Given the description of an element on the screen output the (x, y) to click on. 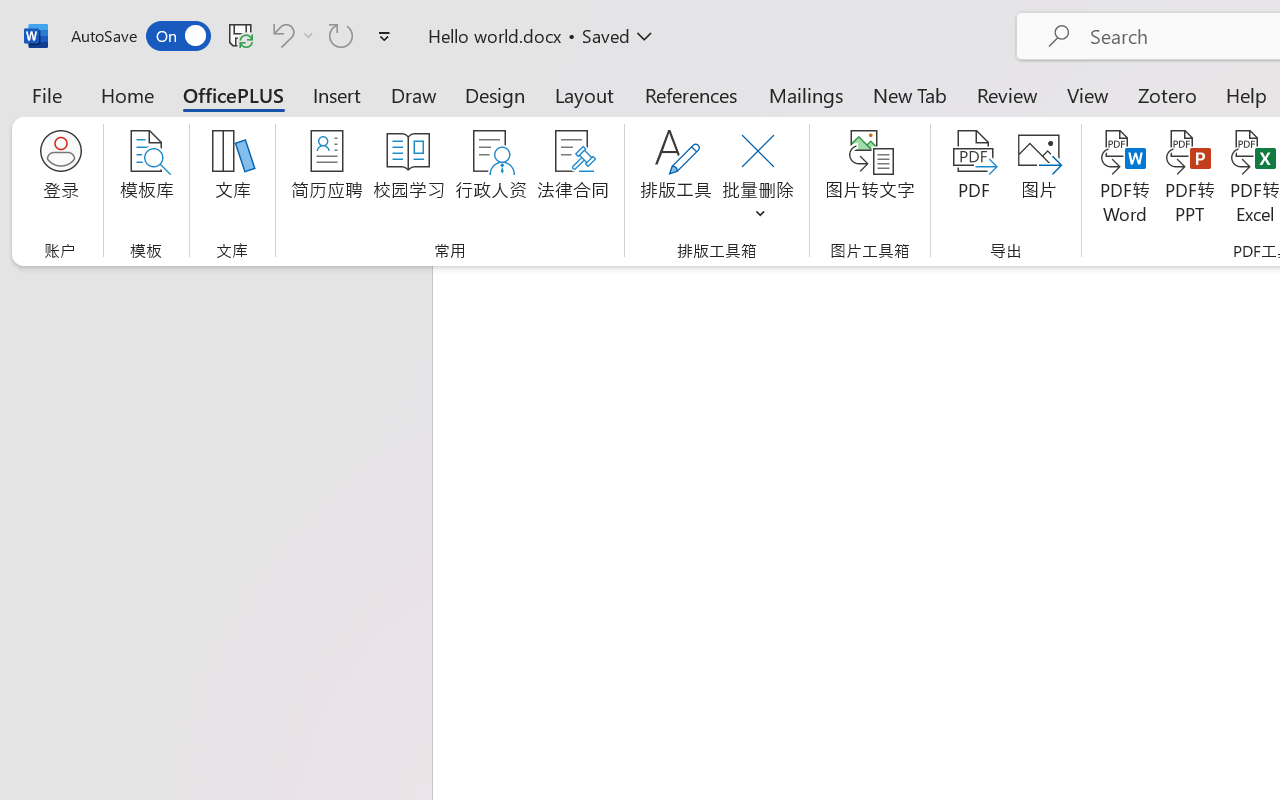
More Options (308, 35)
File Tab (46, 94)
Customize Quick Access Toolbar (384, 35)
Can't Undo (280, 35)
References (690, 94)
Layout (584, 94)
Quick Access Toolbar (233, 36)
Review (1007, 94)
Home (127, 94)
